Given the description of an element on the screen output the (x, y) to click on. 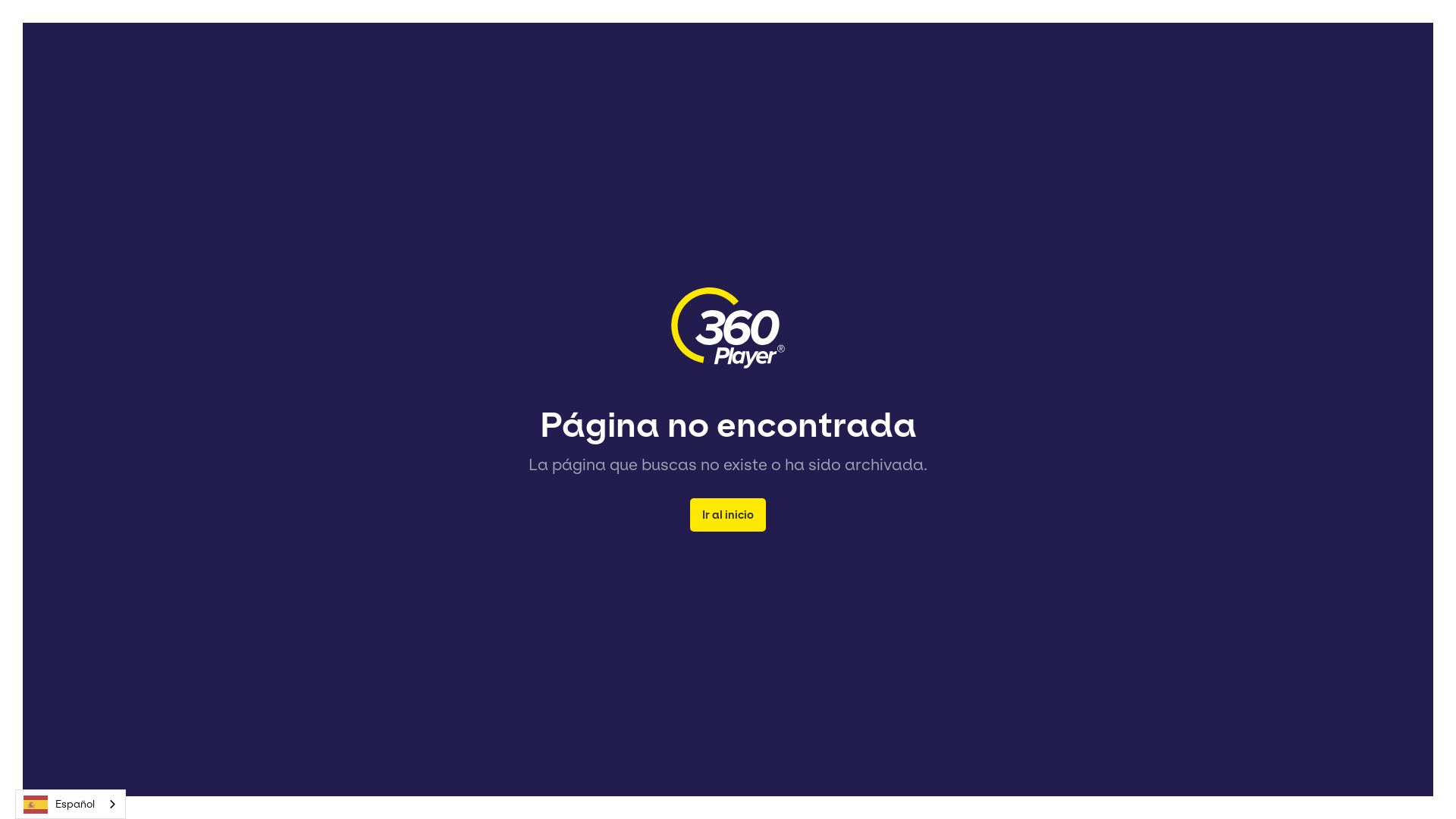
Ir al inicio Element type: text (727, 514)
